Given the description of an element on the screen output the (x, y) to click on. 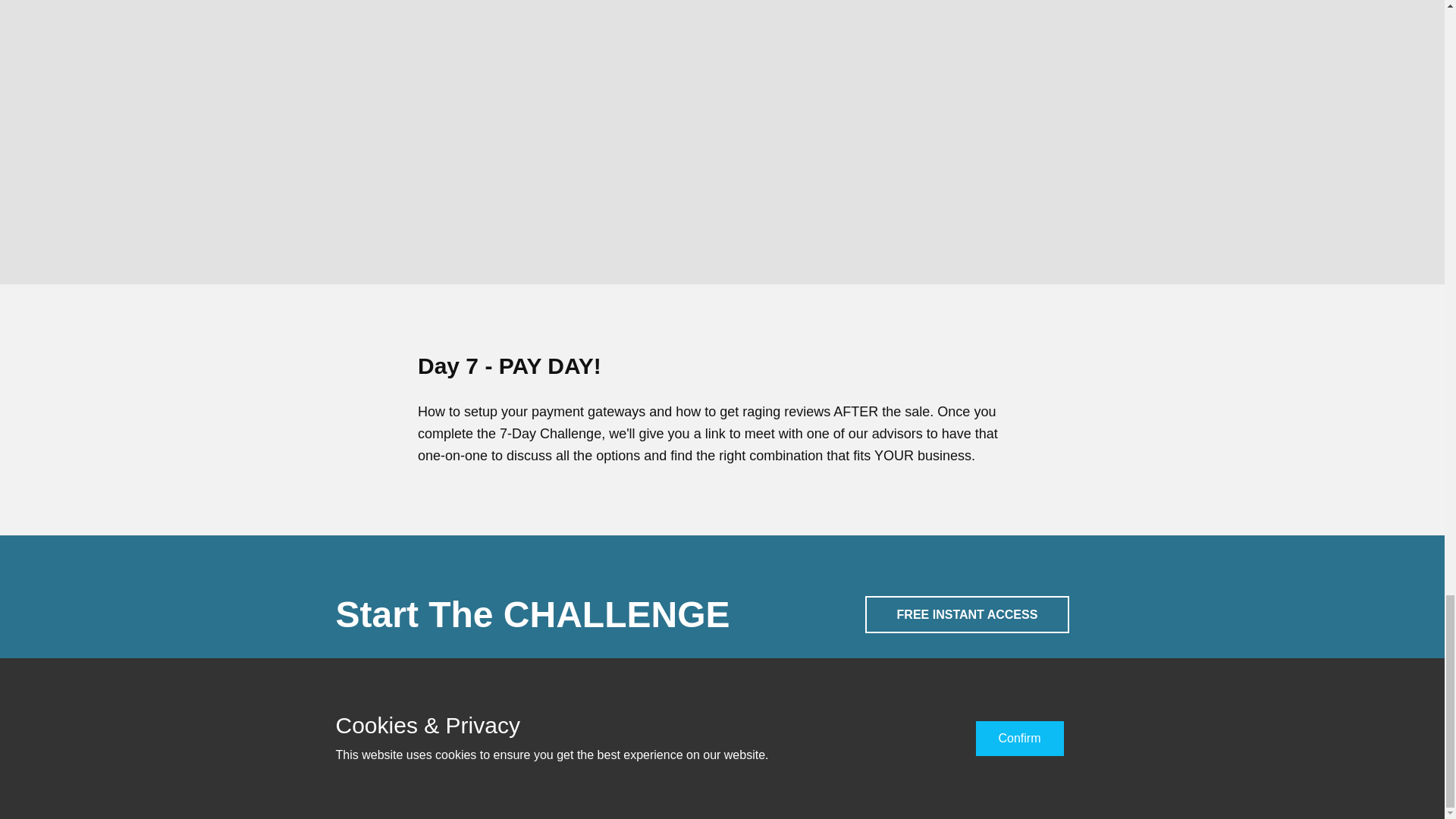
Cookie Policy (773, 756)
Terms (716, 756)
Privacy Policy (662, 756)
FREE INSTANT ACCESS (967, 614)
Acceptable Use Policy (718, 773)
